Given the description of an element on the screen output the (x, y) to click on. 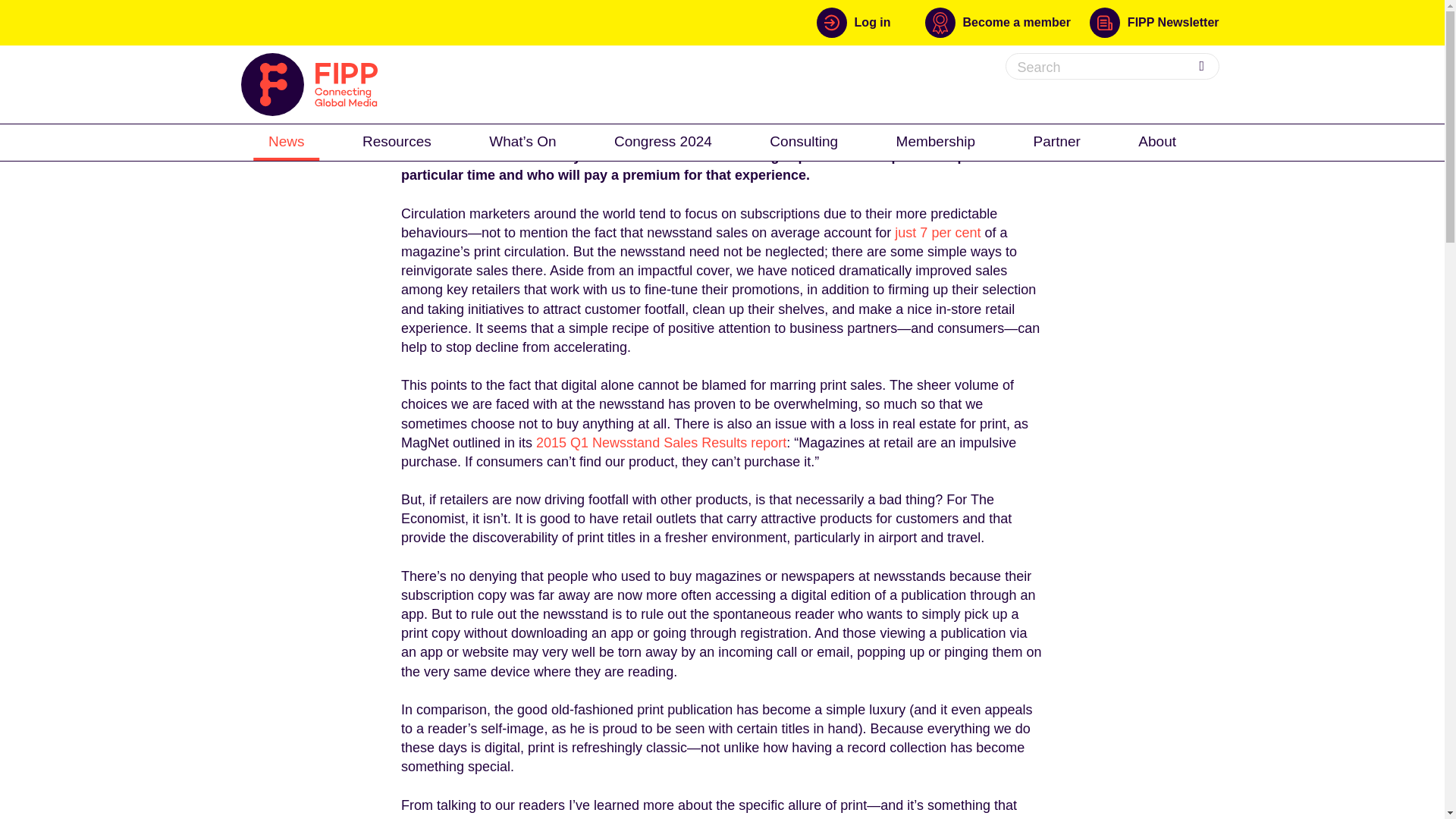
Membership (935, 141)
2015 Q1 Newsstand Sales Results report (660, 442)
News (286, 141)
Partner (1056, 141)
Become a member (1006, 22)
About (1156, 141)
Consulting (803, 141)
FIPP Newsletter (1154, 22)
Congress 2024 (662, 141)
just 7 per cent (937, 232)
